Given the description of an element on the screen output the (x, y) to click on. 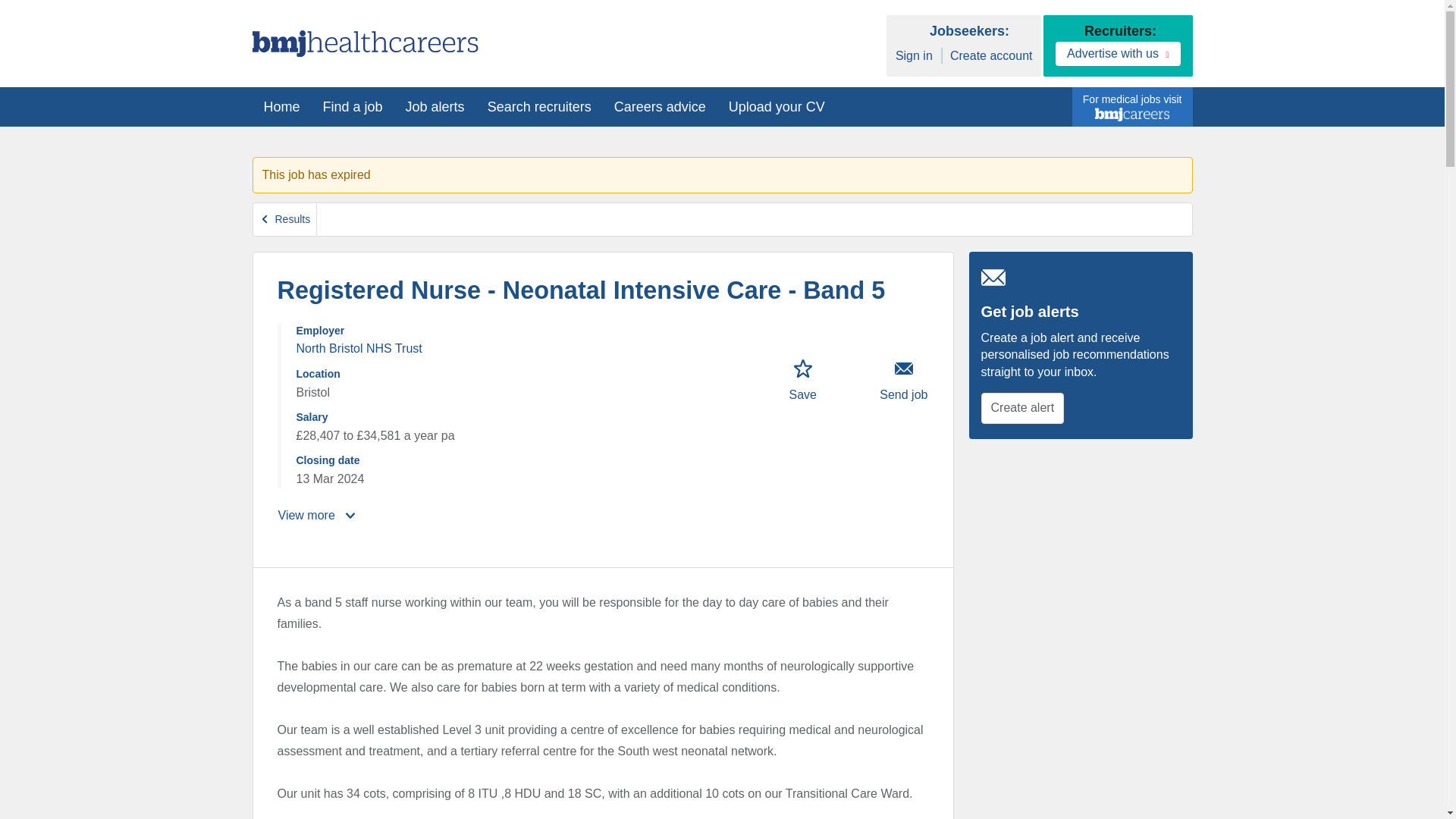
For medical jobs visit (1131, 107)
View more (318, 515)
Home (281, 106)
Job alerts (435, 106)
Search recruiters (539, 106)
bmj careers logo (1131, 114)
Find a job (352, 106)
Sign in (913, 55)
North Bristol NHS Trust (358, 348)
Careers advice (659, 106)
BMJ Careers - Mental Health (364, 43)
Advertise with us (1117, 53)
Upload your CV (776, 106)
Results (285, 219)
Create account (991, 55)
